Given the description of an element on the screen output the (x, y) to click on. 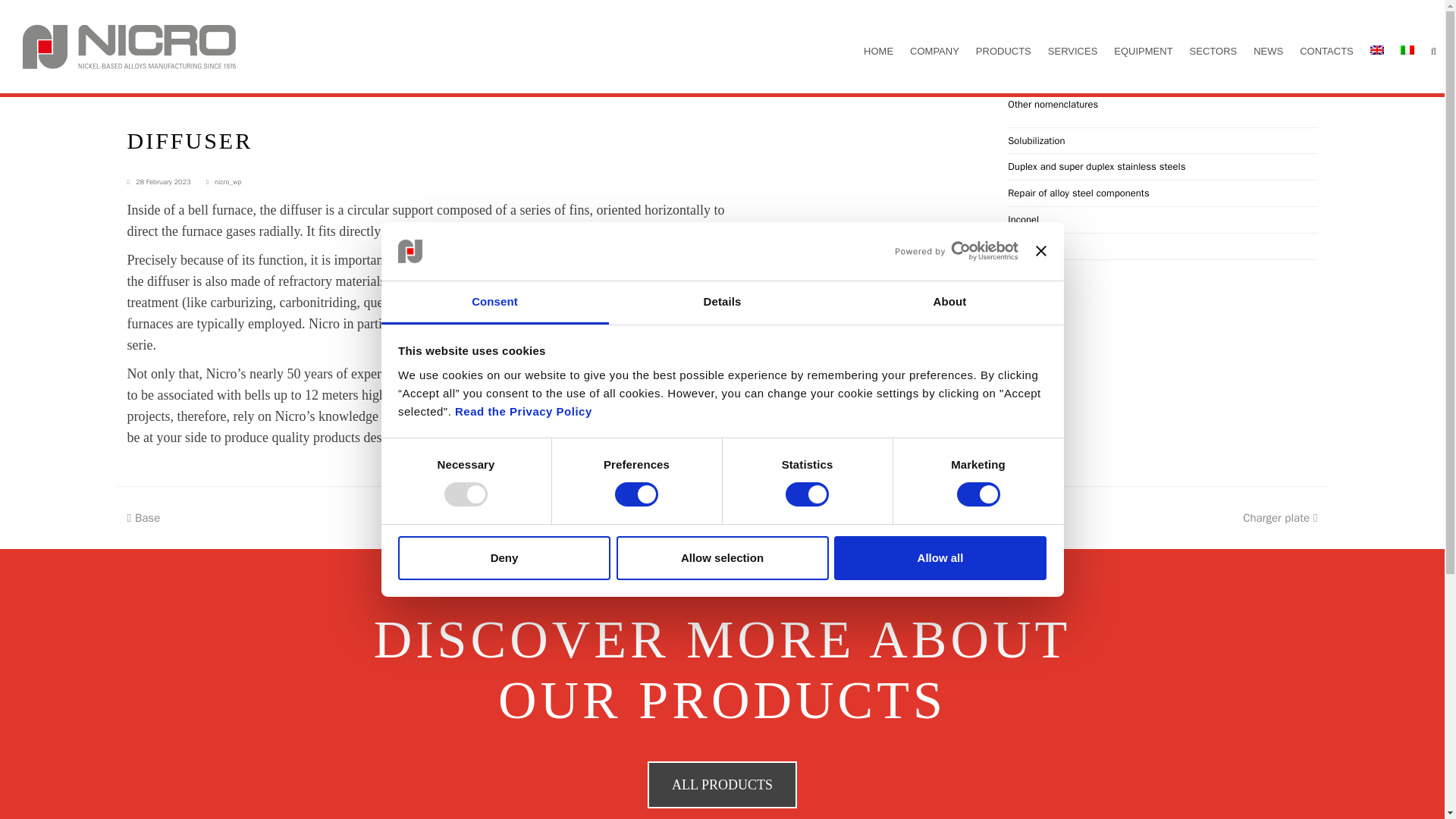
Allow selection (721, 557)
Details (721, 302)
About (948, 302)
Read the Privacy Policy (523, 410)
Consent (494, 302)
Deny (503, 557)
Allow all (940, 557)
